Given the description of an element on the screen output the (x, y) to click on. 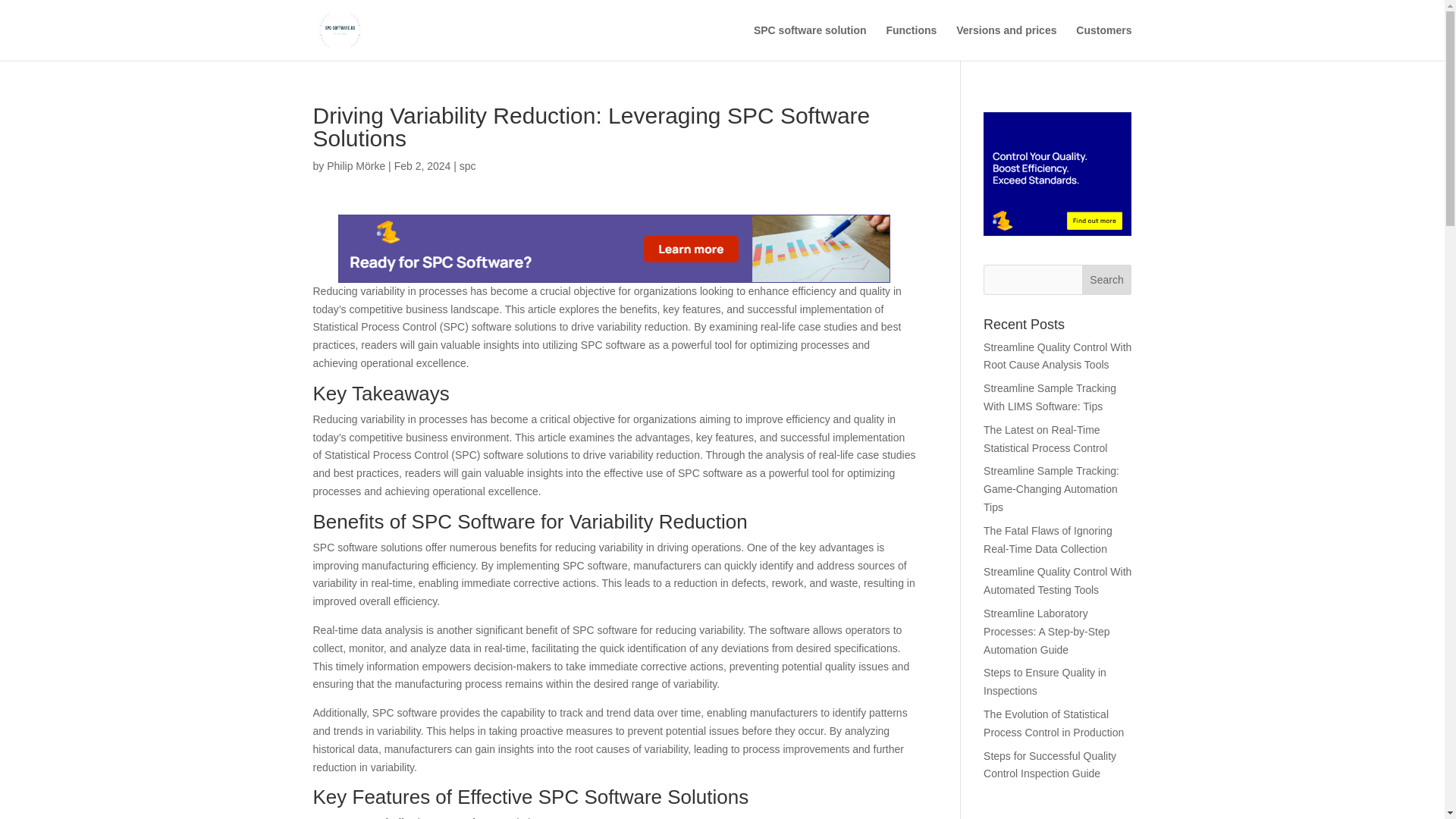
The Latest on Real-Time Statistical Process Control (1045, 439)
Steps to Ensure Quality in Inspections (1045, 681)
Streamline Quality Control With Automated Testing Tools (1057, 580)
Versions and prices (1006, 42)
Functions (910, 42)
Search (1106, 279)
Customers (1103, 42)
The Evolution of Statistical Process Control in Production (1054, 723)
SPC software solution (810, 42)
SPC Software (614, 248)
The Fatal Flaws of Ignoring Real-Time Data Collection (1048, 539)
Streamline Quality Control With Root Cause Analysis Tools (1057, 356)
Streamline Sample Tracking: Game-Changing Automation Tips (1051, 489)
advertisement (1057, 173)
